Given the description of an element on the screen output the (x, y) to click on. 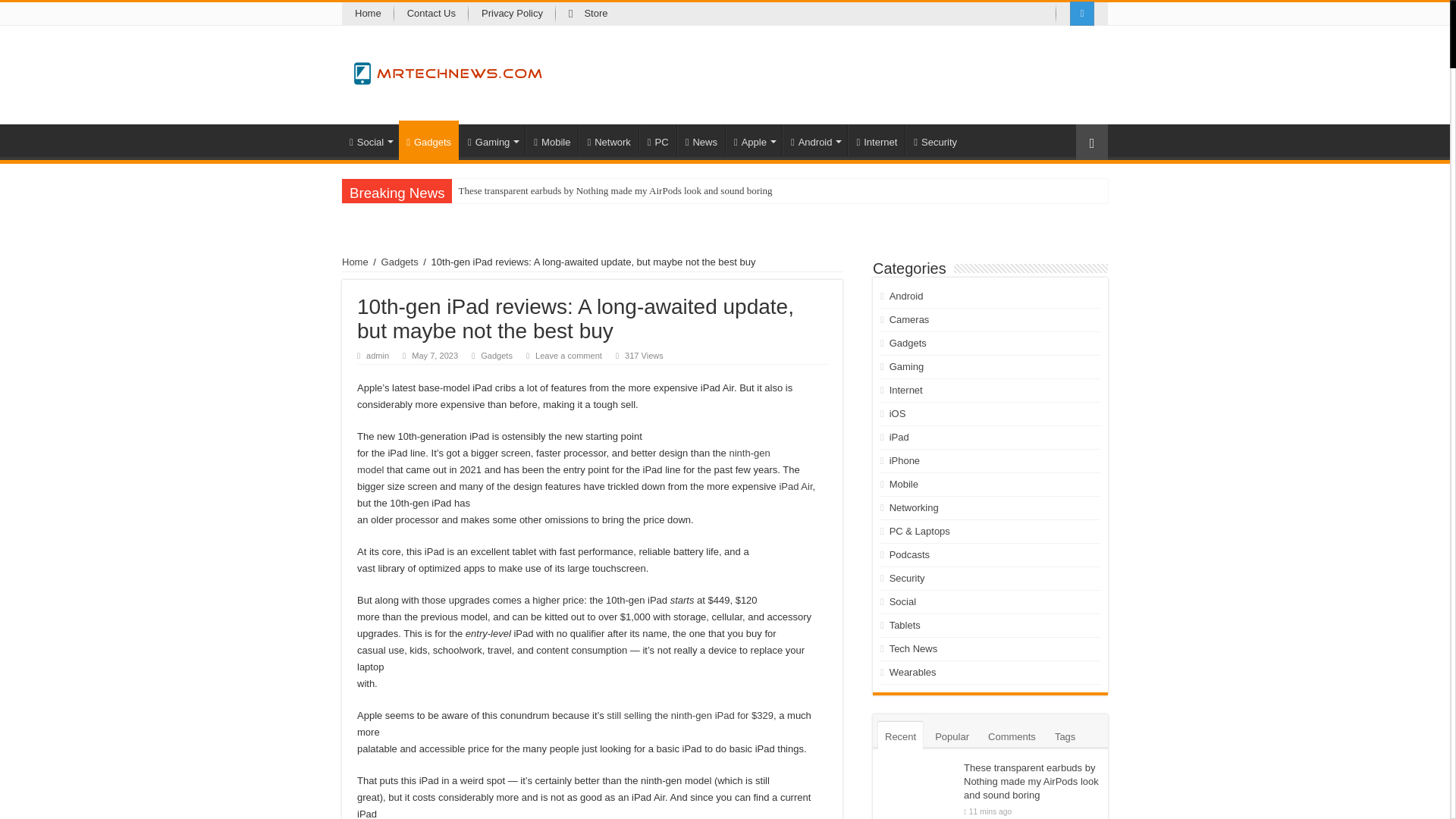
Mr Tech News (448, 70)
Social (370, 140)
Search (11, 9)
Contact Us (431, 13)
Privacy Policy (512, 13)
Gadgets (428, 139)
Home (368, 13)
Store (588, 13)
Gaming (492, 140)
